Given the description of an element on the screen output the (x, y) to click on. 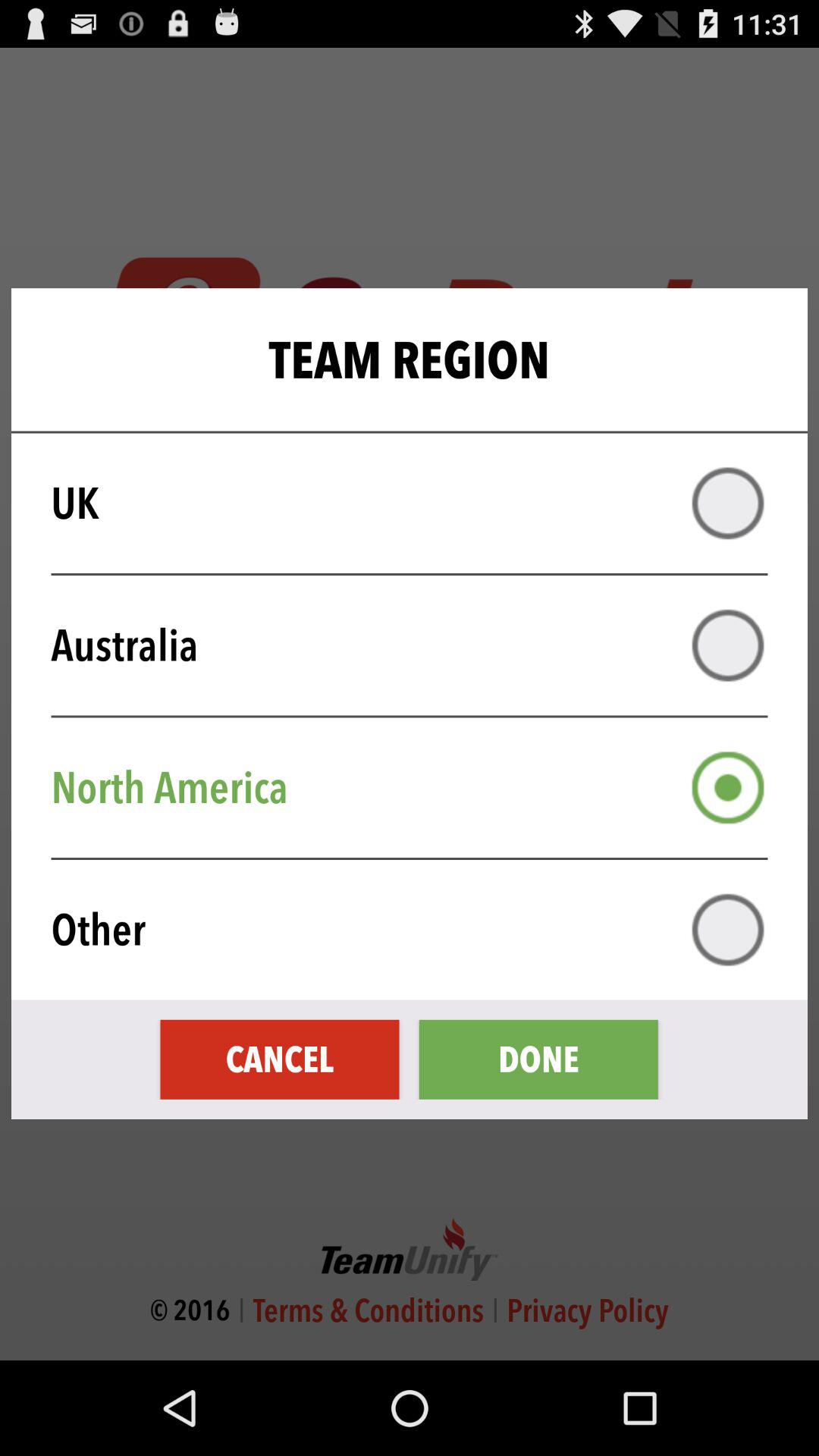
select other (727, 929)
